Given the description of an element on the screen output the (x, y) to click on. 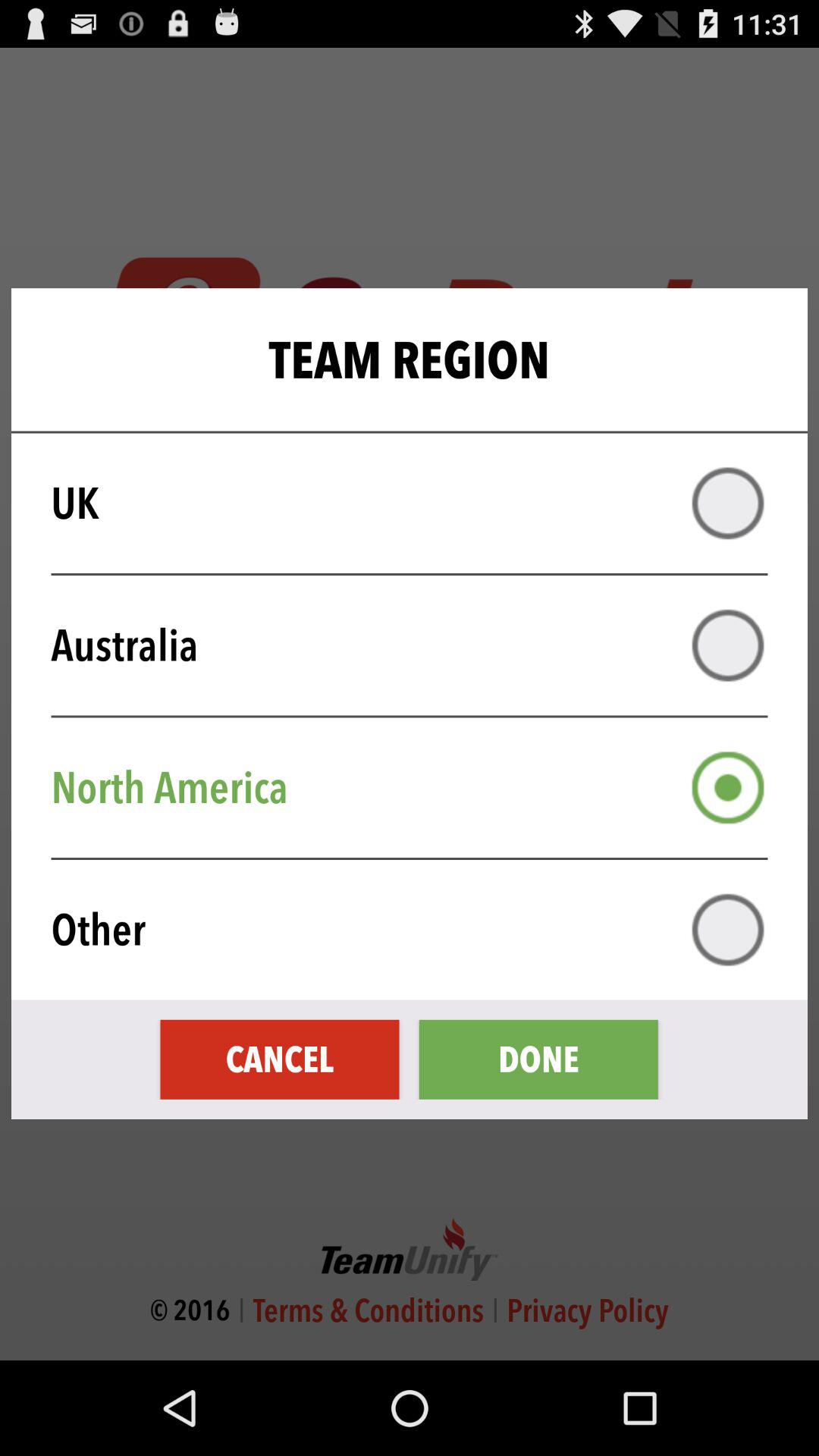
select other (727, 929)
